Given the description of an element on the screen output the (x, y) to click on. 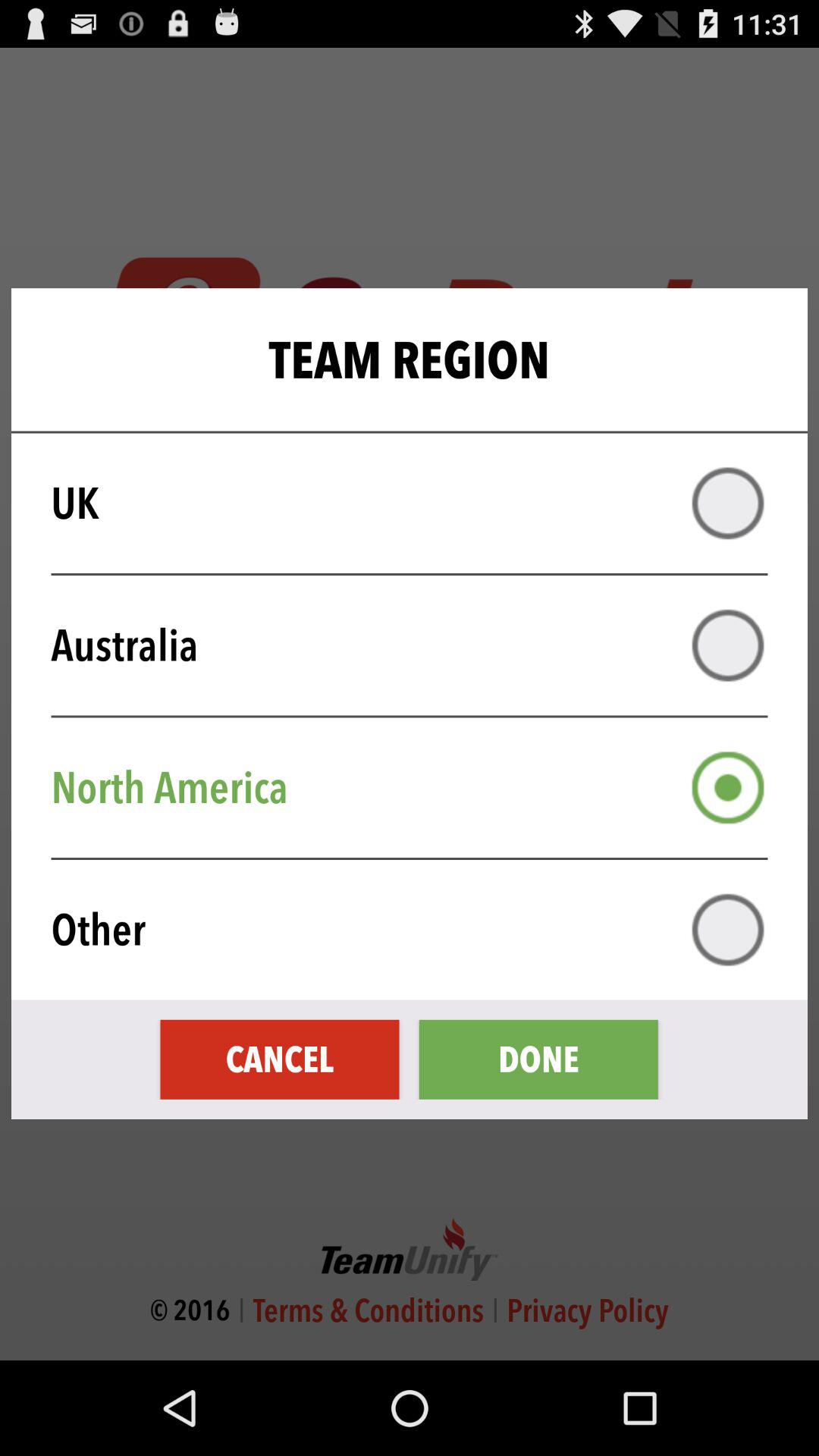
select other (727, 929)
